Given the description of an element on the screen output the (x, y) to click on. 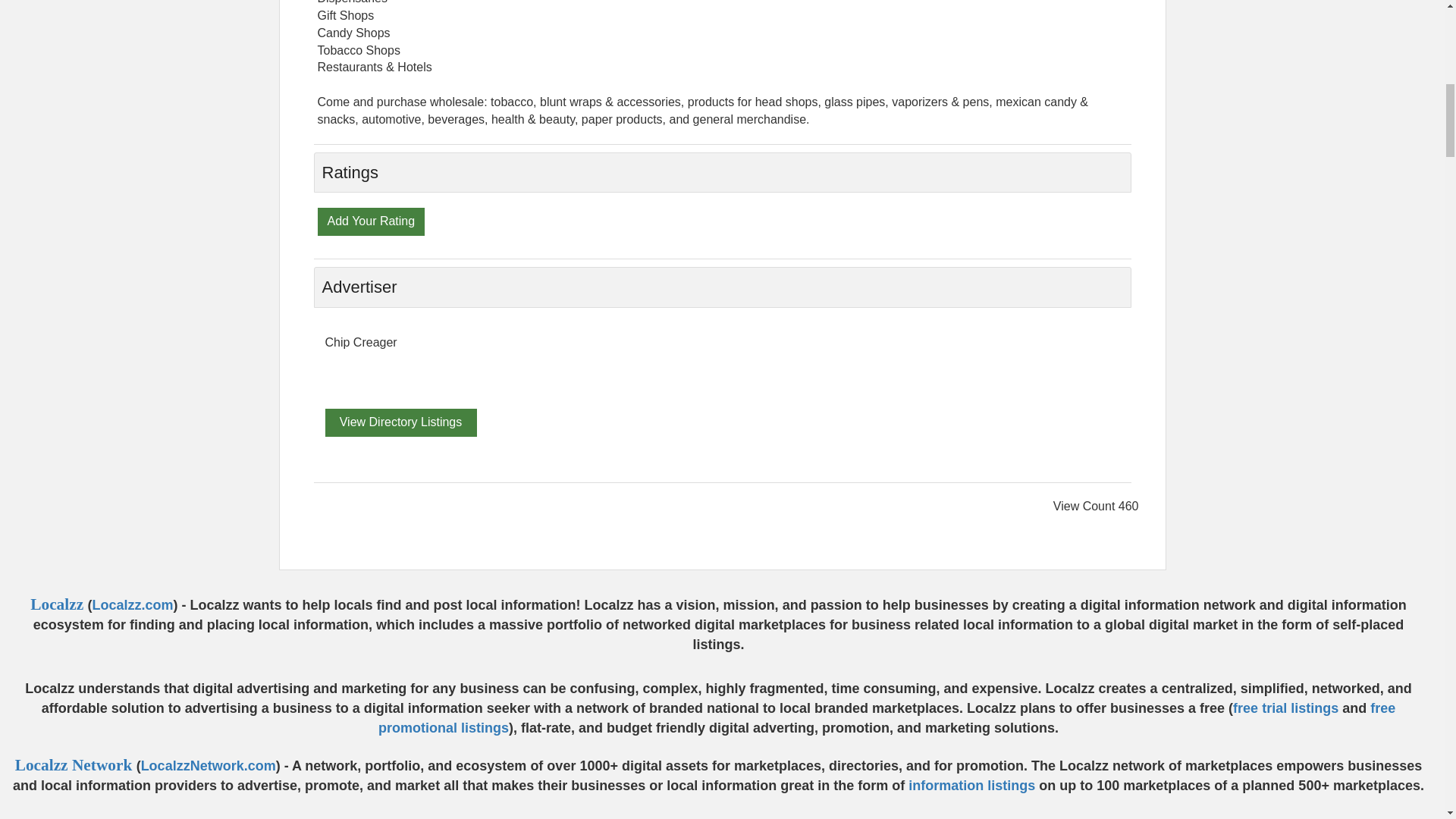
Click to Rate (371, 220)
View Directory Listings (400, 422)
